Given the description of an element on the screen output the (x, y) to click on. 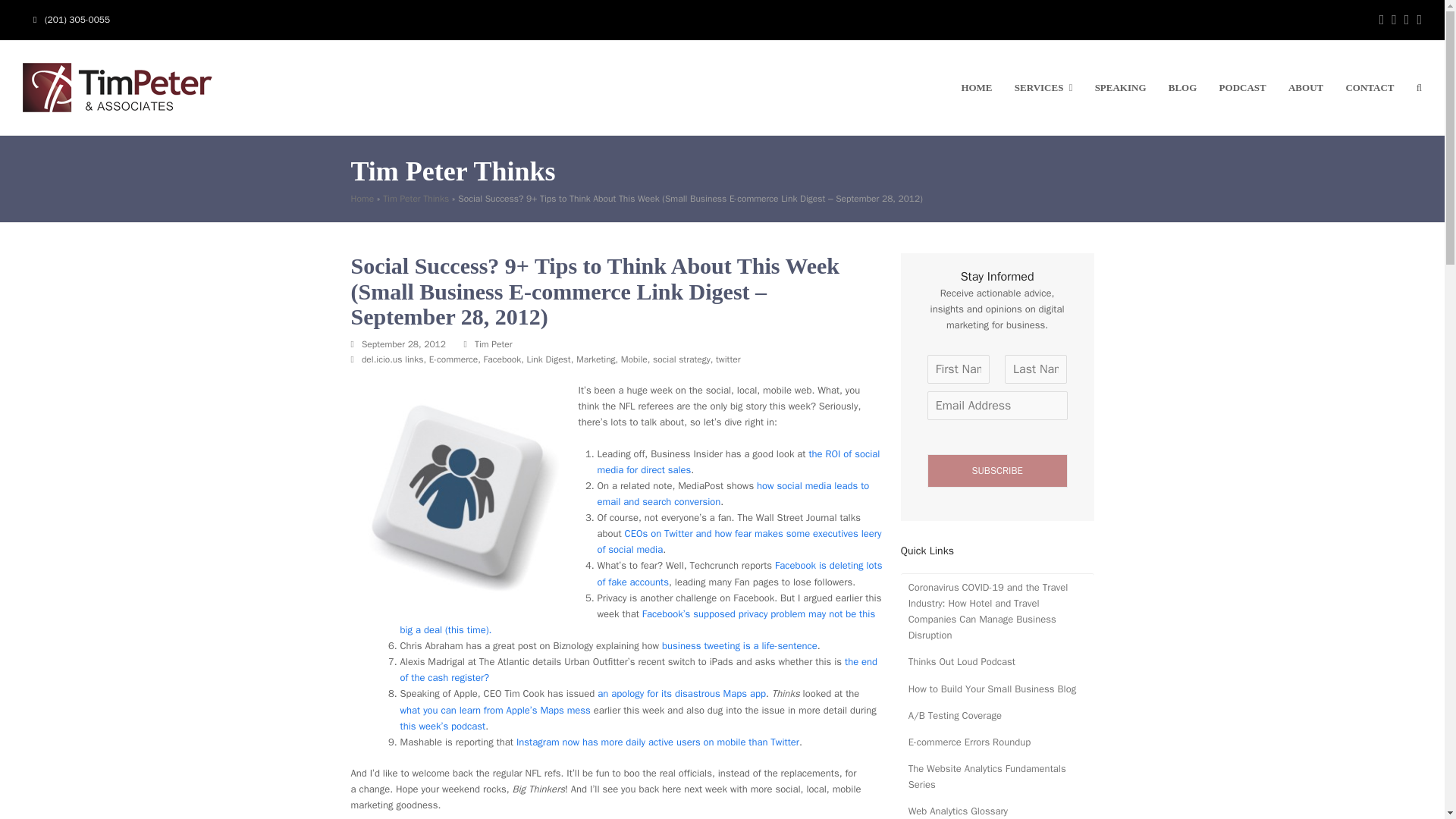
twitter (728, 358)
Tim Peter (493, 344)
SERVICES (1043, 87)
Home (362, 198)
social strategy (681, 358)
Mobile (634, 358)
Facebook is deleting lots of fake accounts (739, 573)
PODCAST (1243, 87)
Marketing (595, 358)
CONTACT (1369, 87)
